Given the description of an element on the screen output the (x, y) to click on. 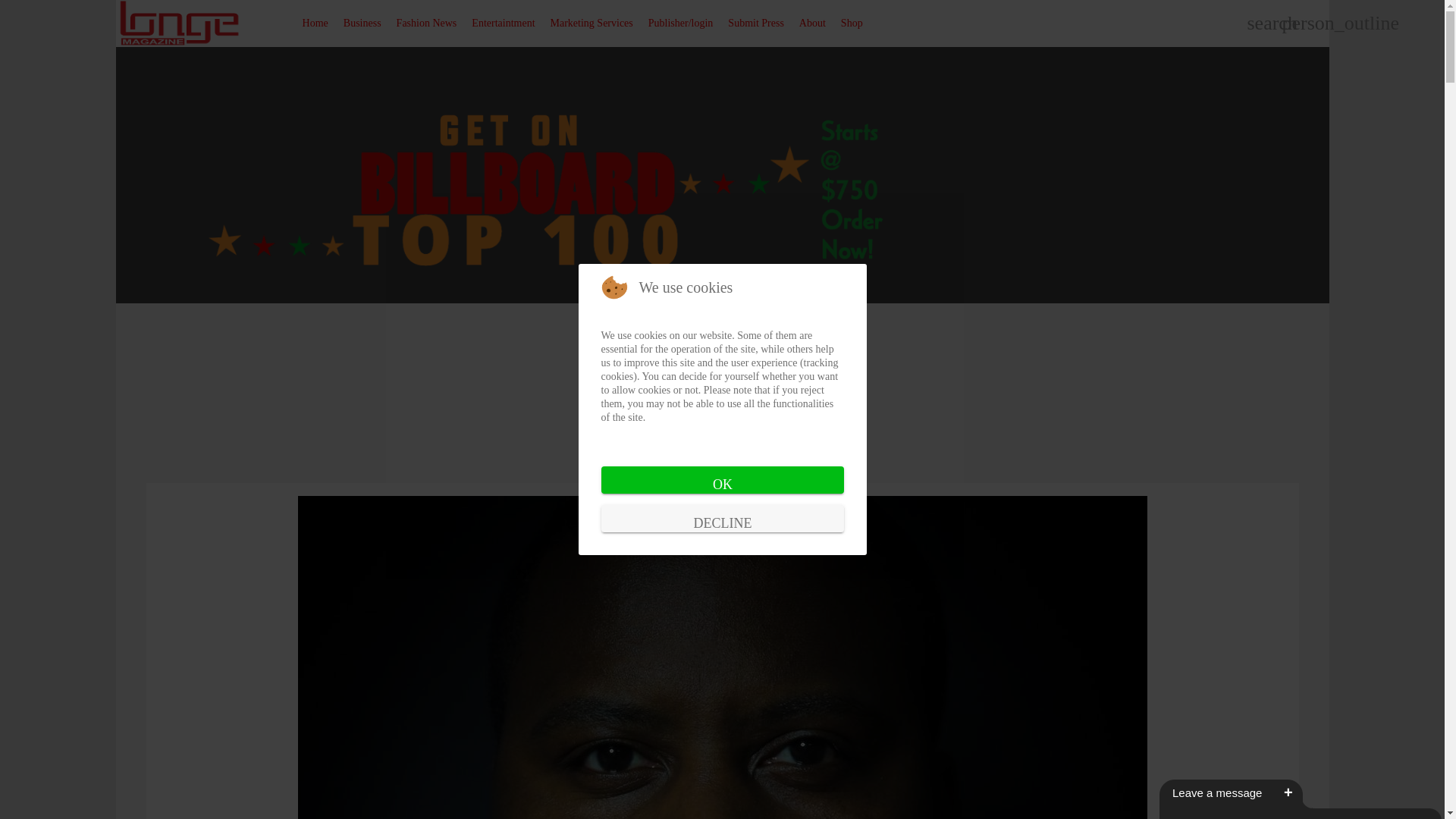
Marketing Services (591, 23)
Entertaintment (502, 23)
Business (362, 23)
 Home Menu Item (315, 23)
Home (315, 23)
Submit Press (756, 23)
Get Charted Billbaord's Top 100 (575, 374)
Fashion News (426, 23)
About (812, 23)
Shop (851, 23)
